Given the description of an element on the screen output the (x, y) to click on. 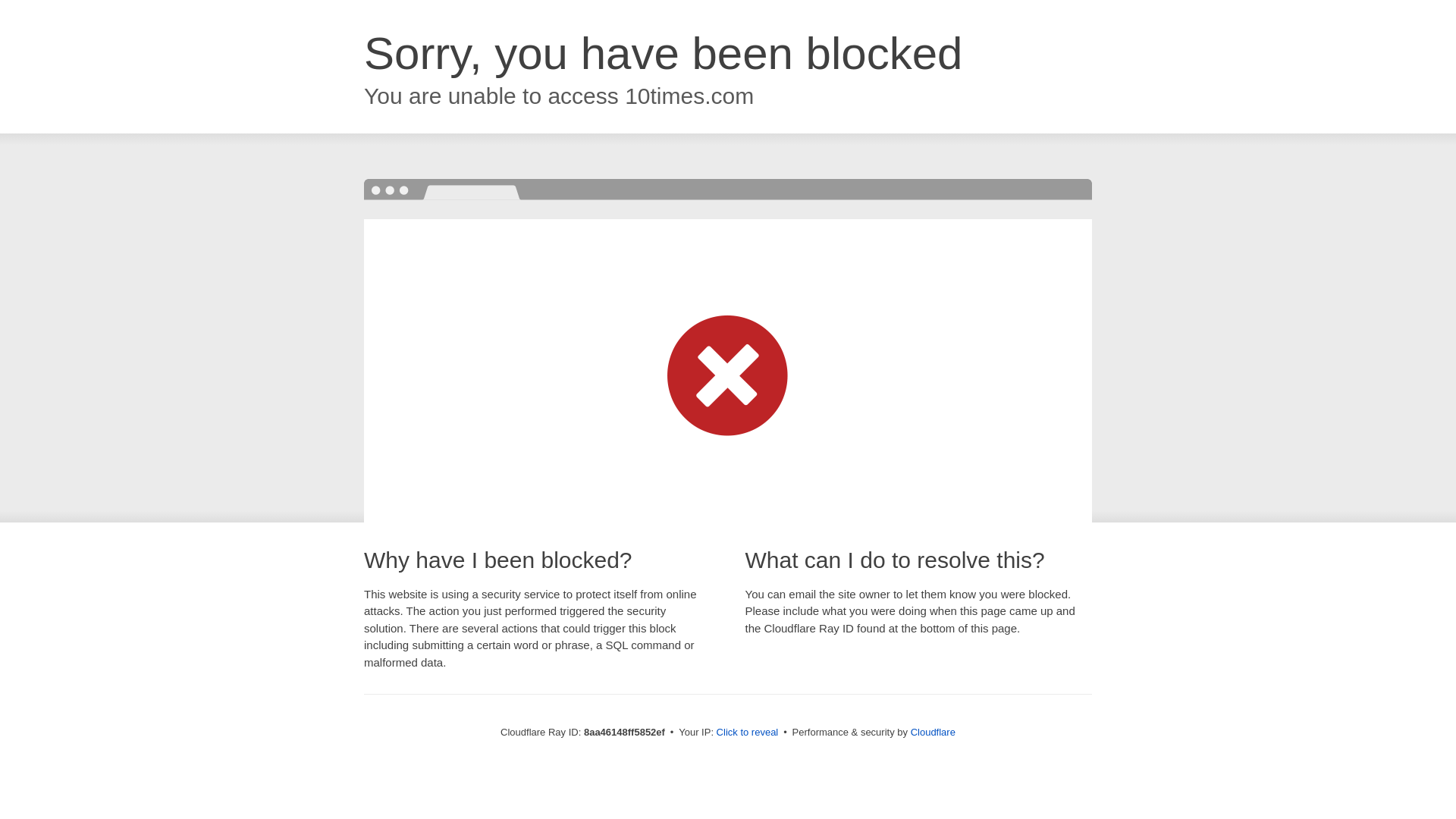
Cloudflare (933, 731)
Click to reveal (747, 732)
